Given the description of an element on the screen output the (x, y) to click on. 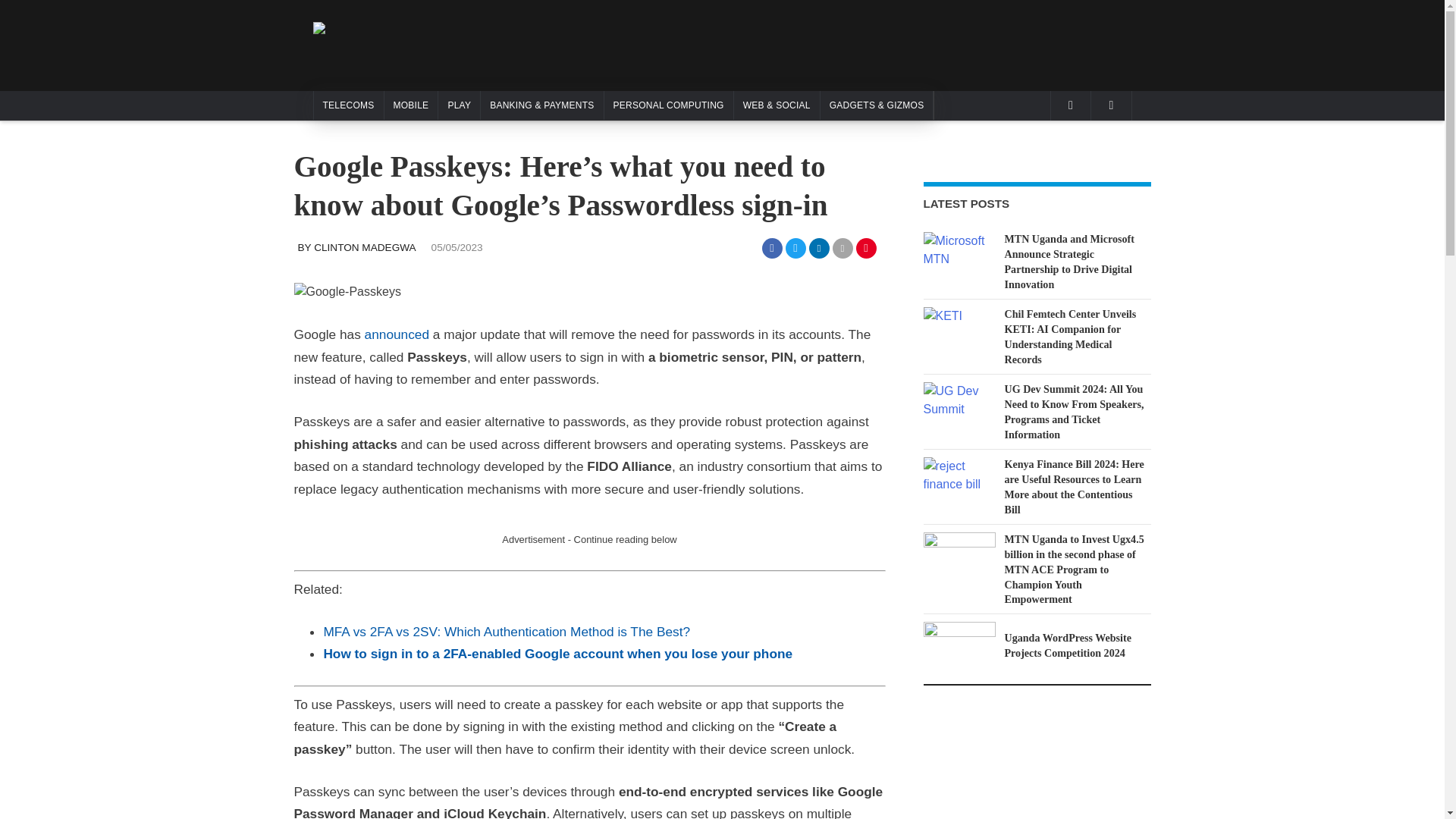
Share by Email (842, 248)
